Given the description of an element on the screen output the (x, y) to click on. 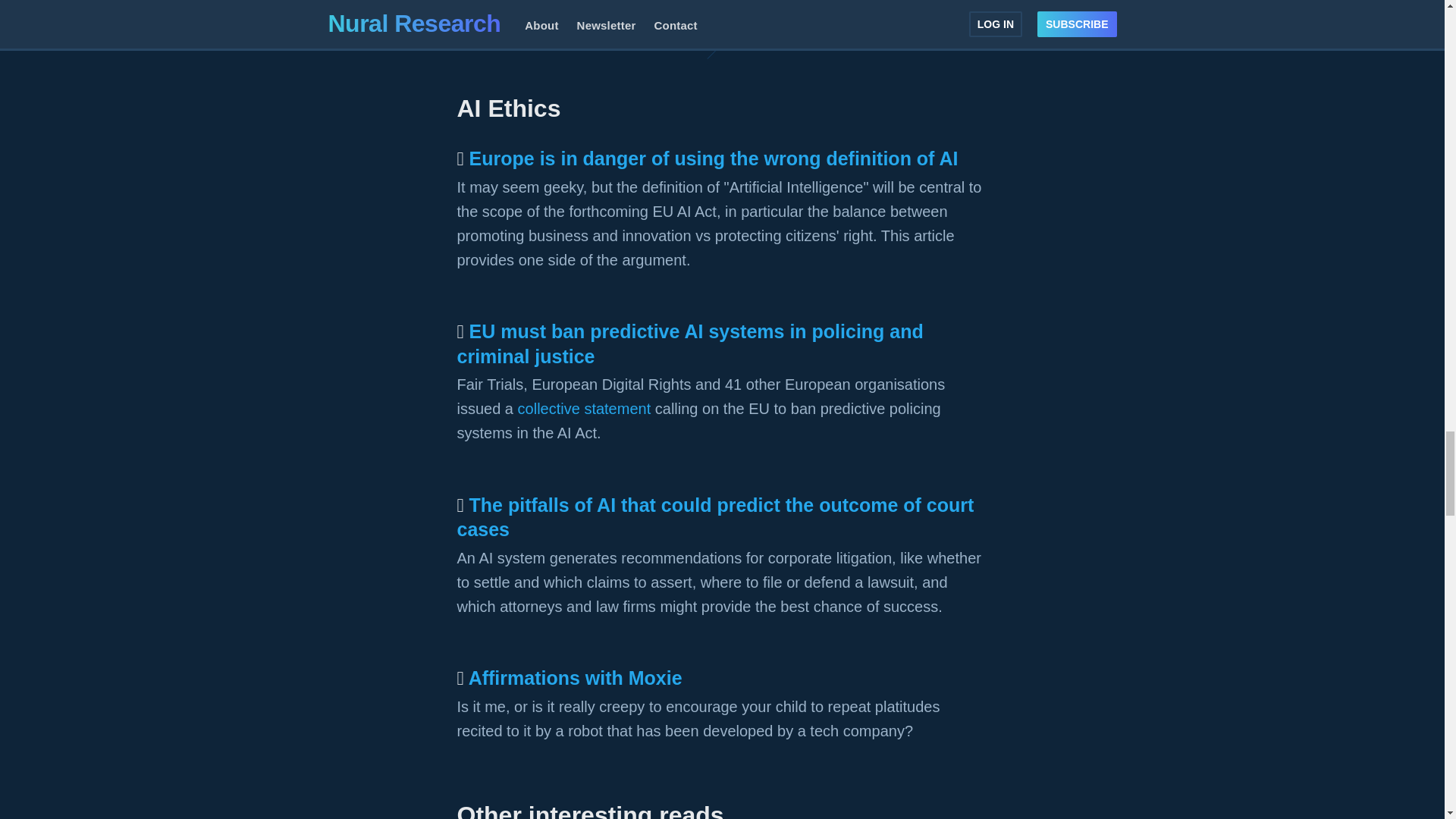
Europe is in danger of using the wrong definition of AI (713, 158)
Affirmations with Moxie (575, 677)
collective statement (584, 408)
